Given the description of an element on the screen output the (x, y) to click on. 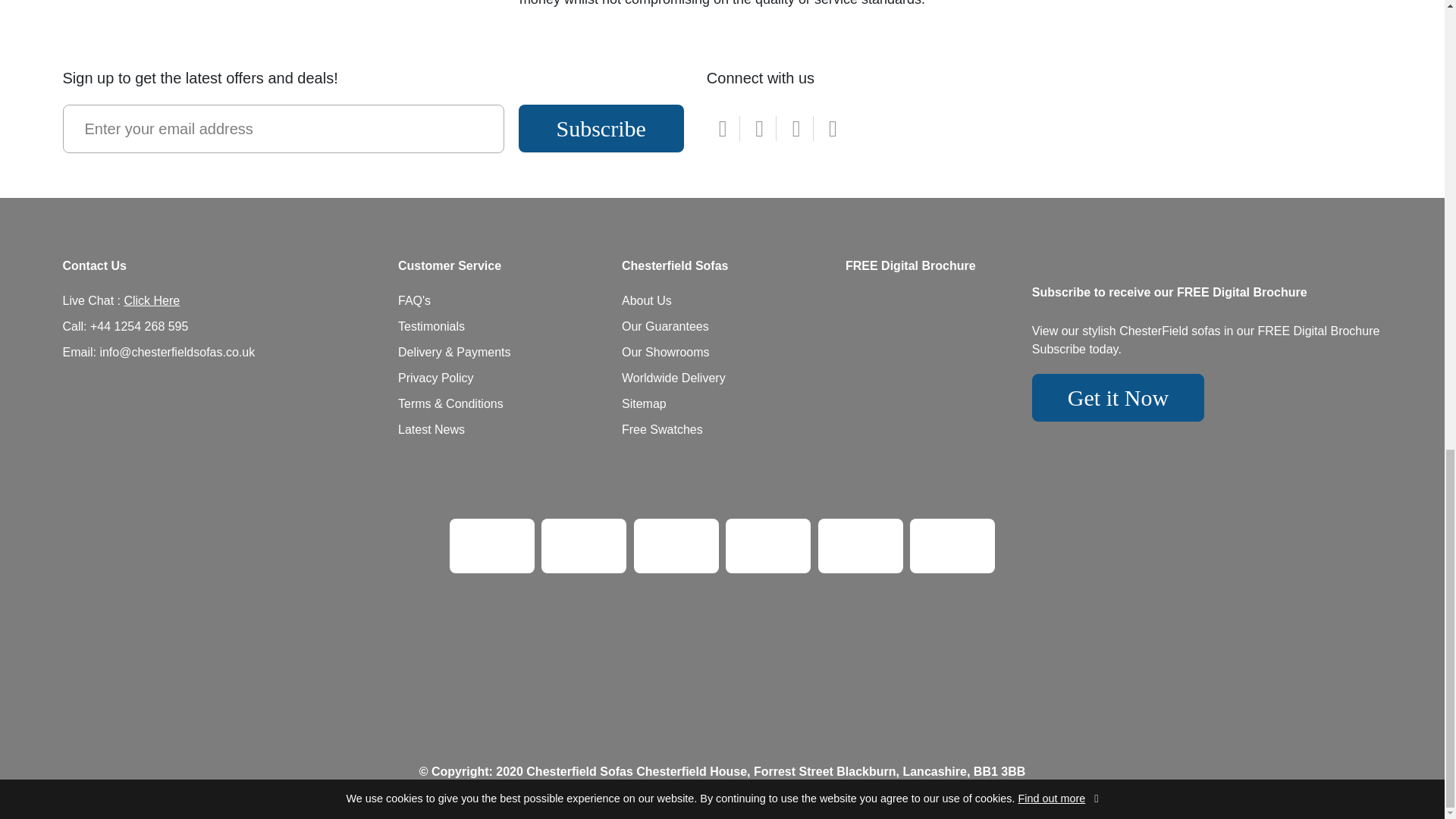
Chat Request (151, 300)
Subscribe (601, 127)
